Given the description of an element on the screen output the (x, y) to click on. 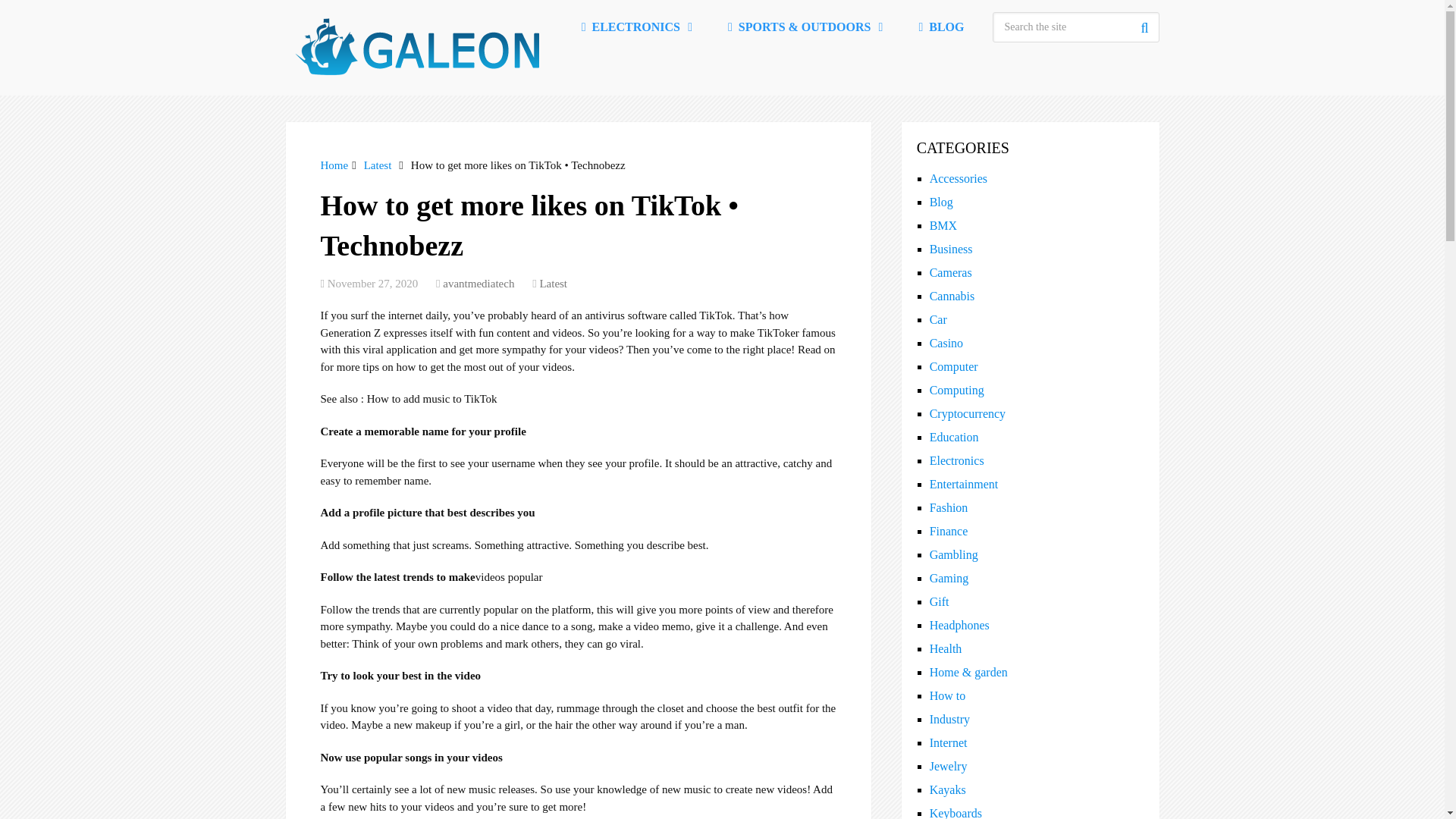
Electronics (635, 27)
ELECTRONICS (635, 27)
